Given the description of an element on the screen output the (x, y) to click on. 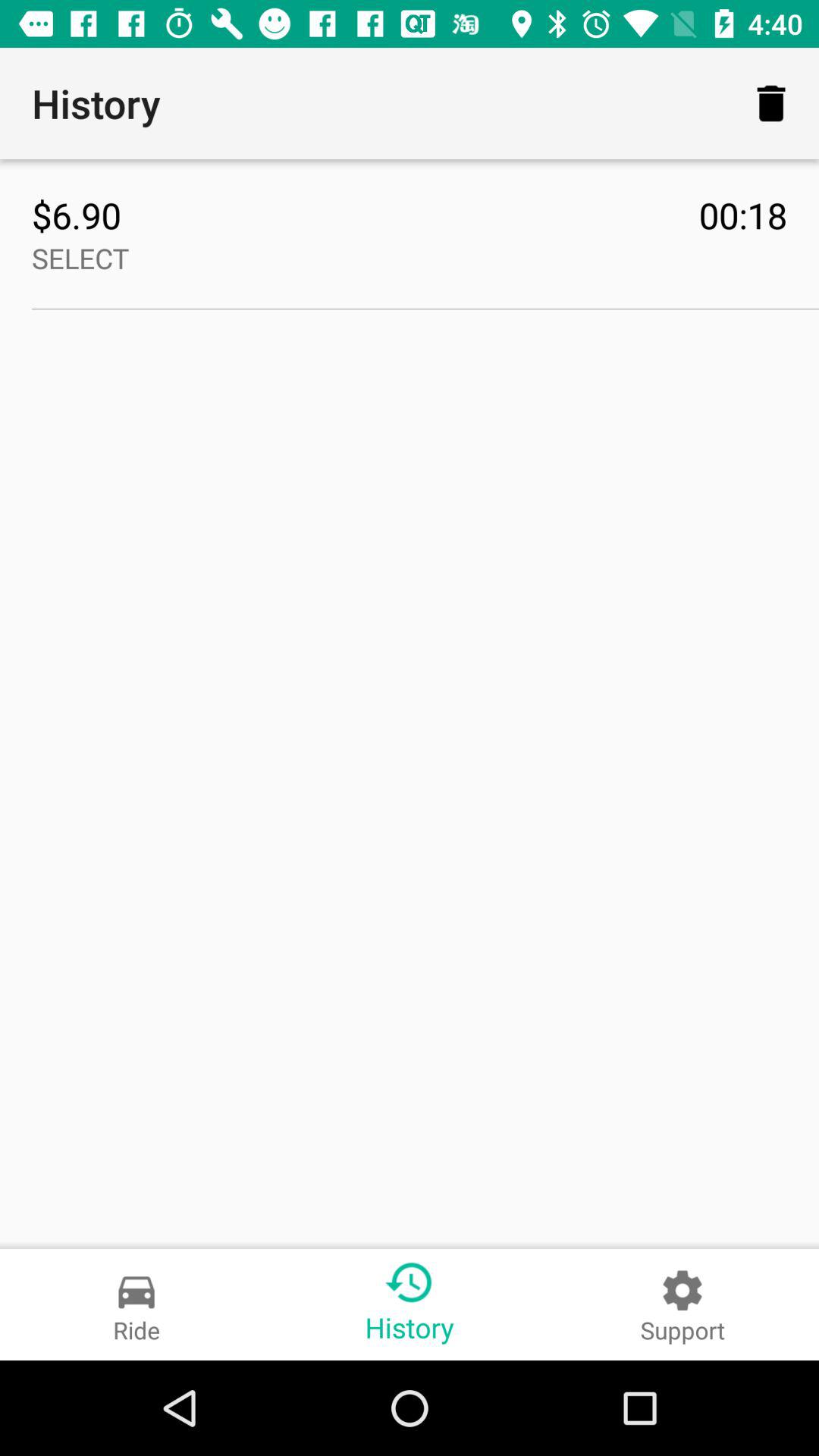
open icon above the 00:18 icon (771, 103)
